Given the description of an element on the screen output the (x, y) to click on. 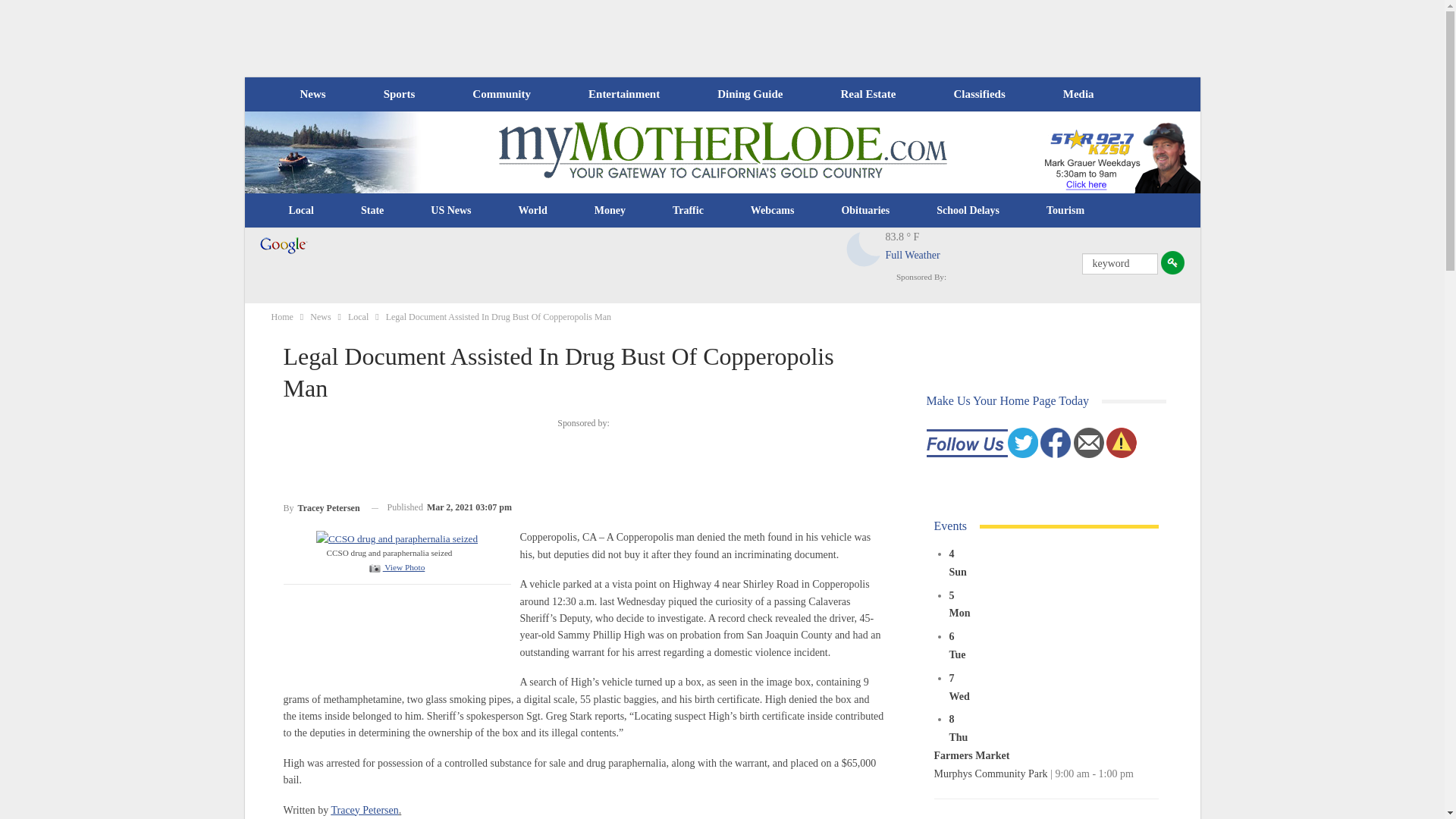
CCSO drug and paraphernalia seized (396, 536)
Sports (399, 93)
Submit (1172, 262)
State (372, 210)
Media (1078, 93)
World (532, 210)
Money (609, 210)
Clear (864, 249)
Dining Guide (749, 93)
Webcams (772, 210)
Traffic (687, 210)
Tourism (1065, 210)
